Given the description of an element on the screen output the (x, y) to click on. 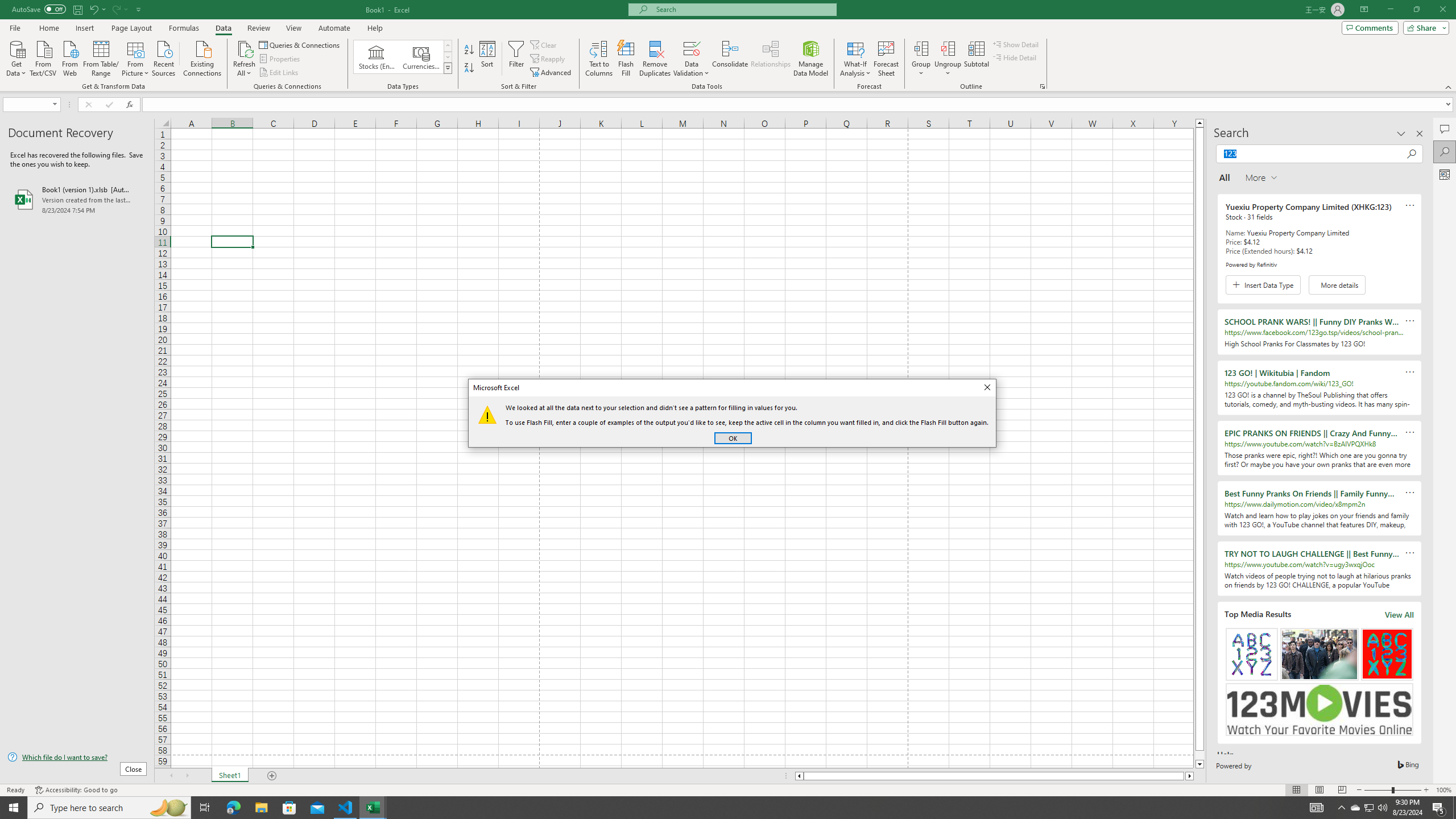
Notification Chevron (1341, 807)
Relationships (770, 58)
Task View (204, 807)
File Explorer (261, 807)
Consolidate... (729, 58)
